Given the description of an element on the screen output the (x, y) to click on. 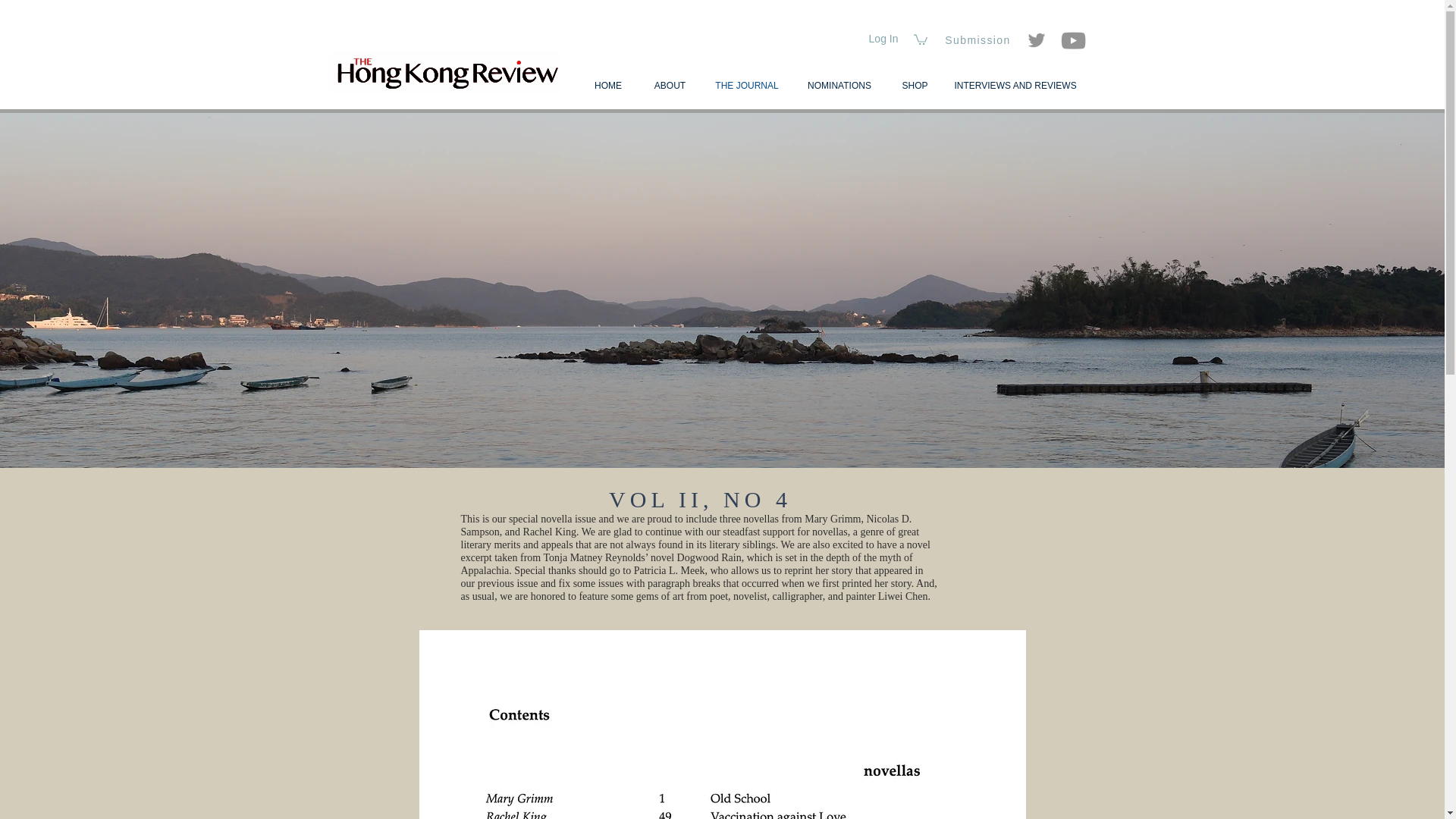
ABOUT (670, 85)
Submission (979, 40)
Log In (883, 39)
THE JOURNAL (746, 85)
NOMINATIONS (839, 85)
HOME (607, 85)
